Given the description of an element on the screen output the (x, y) to click on. 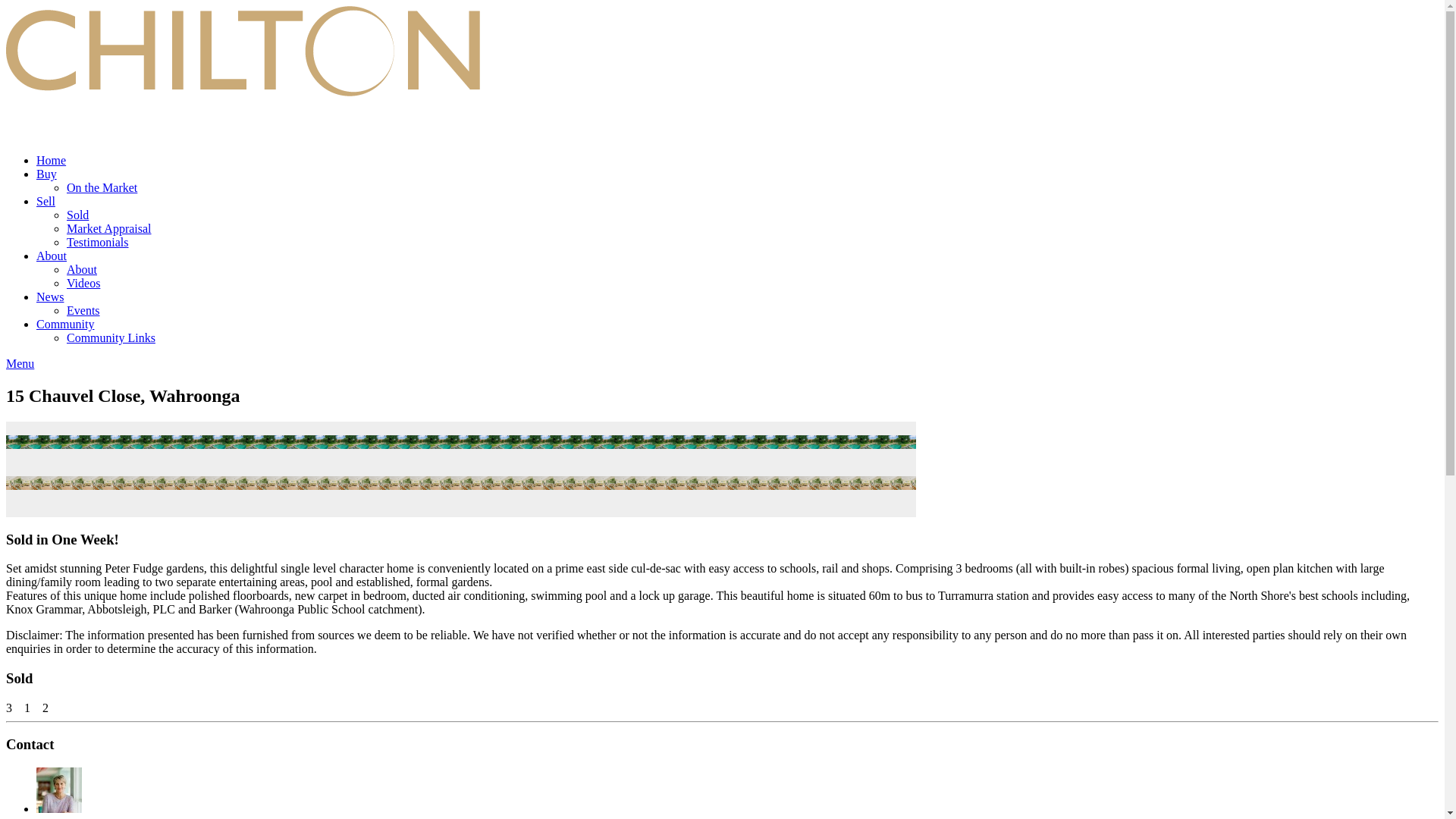
News (50, 296)
Sell (45, 201)
Market Appraisal (108, 228)
About (51, 255)
Events (83, 309)
Buy (46, 173)
Home (50, 160)
Sold (77, 214)
Testimonials (97, 241)
About (81, 269)
On the Market (101, 187)
Menu (19, 363)
Community (65, 323)
Videos (83, 282)
Community Links (110, 337)
